Given the description of an element on the screen output the (x, y) to click on. 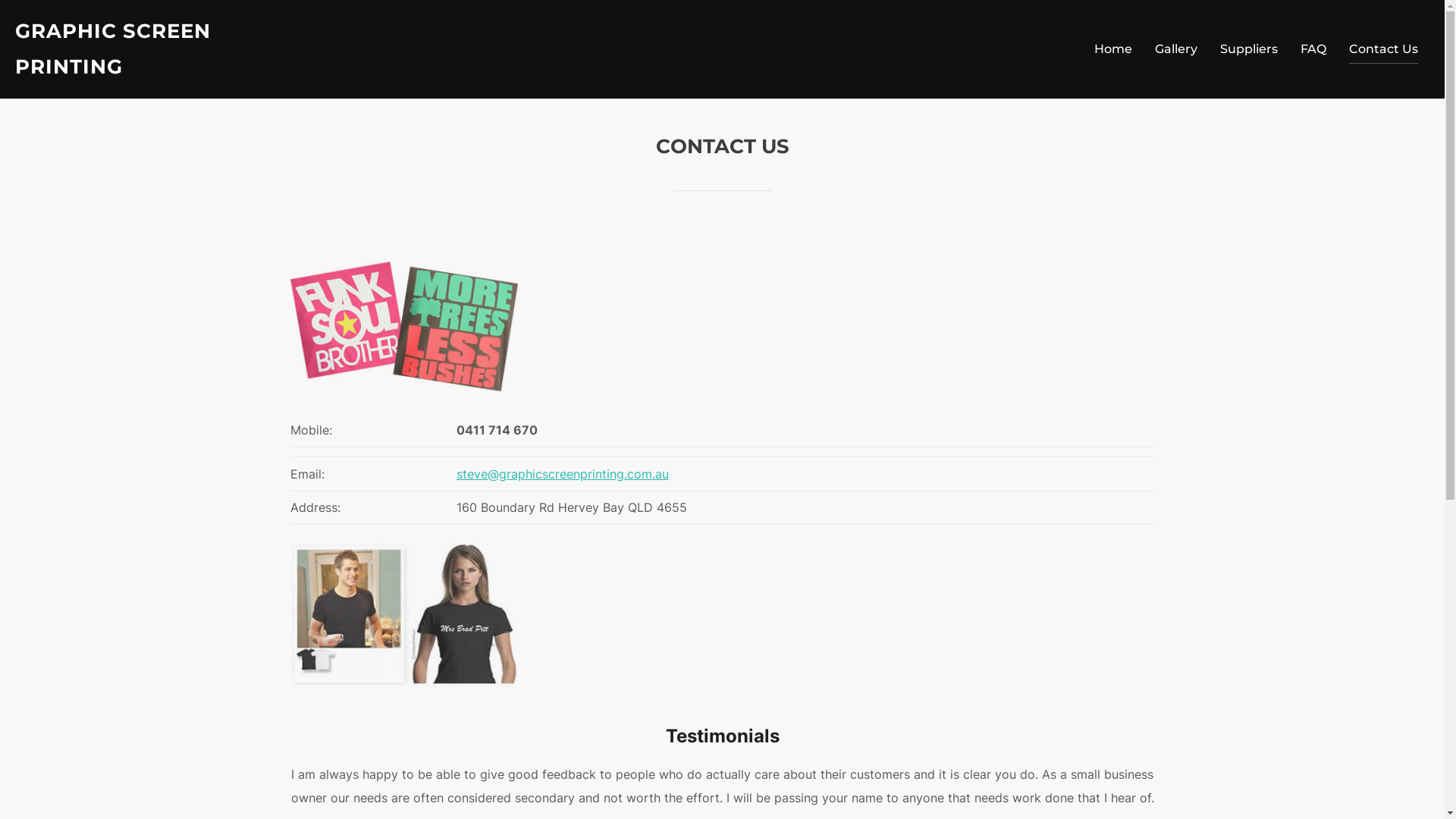
GRAPHIC SCREEN PRINTING Element type: text (147, 48)
Contact Us Element type: text (1383, 48)
Gallery Element type: text (1175, 48)
steve@graphicscreenprinting.com.au Element type: text (562, 473)
Suppliers Element type: text (1248, 48)
FAQ Element type: text (1313, 48)
Home Element type: text (1113, 48)
